Given the description of an element on the screen output the (x, y) to click on. 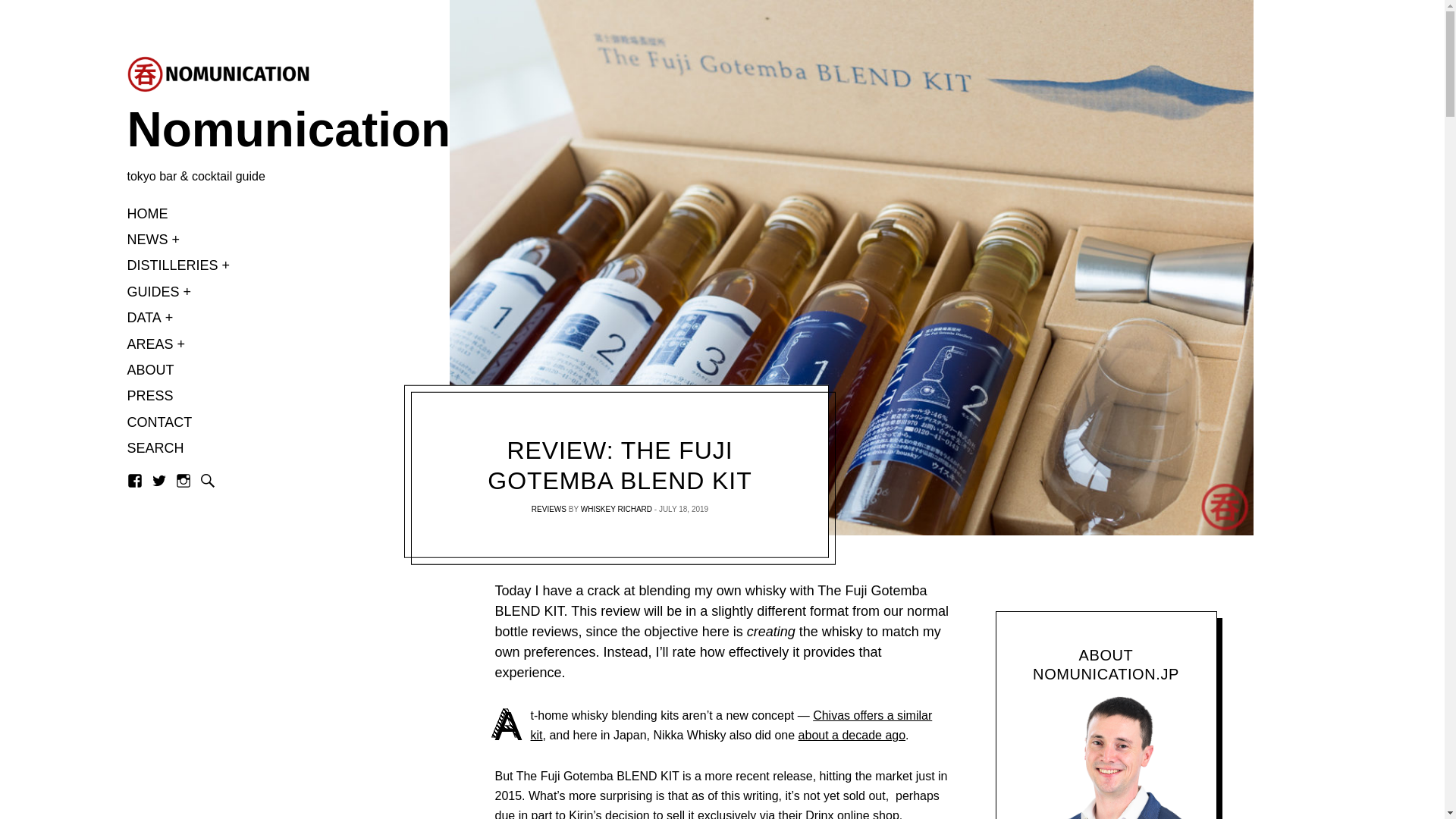
HOME (148, 214)
NEWS (148, 240)
Nomunication (218, 130)
GUIDES (153, 292)
DISTILLERIES (173, 266)
